Given the description of an element on the screen output the (x, y) to click on. 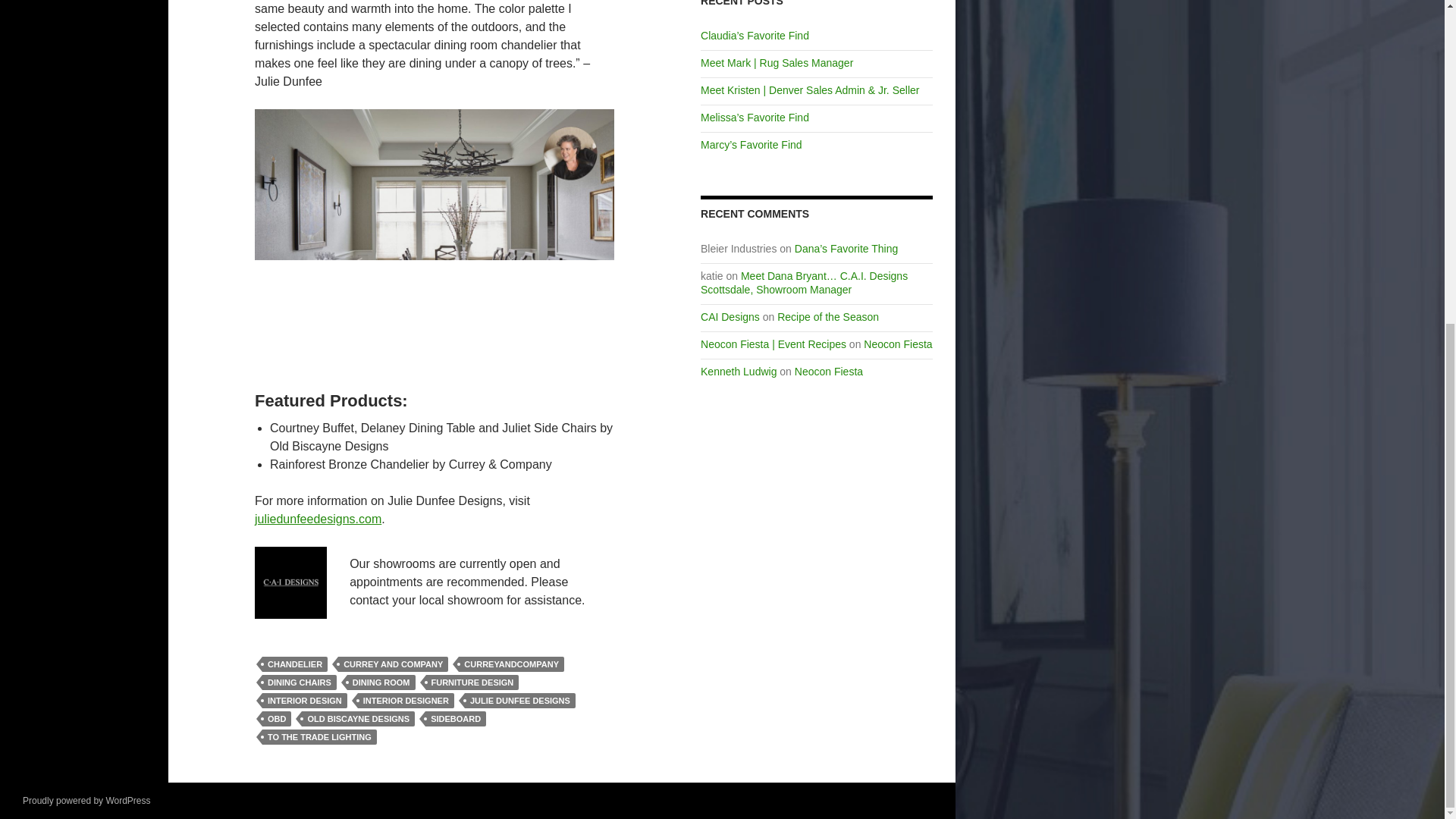
TO THE TRADE LIGHTING (319, 736)
JULIE DUNFEE DESIGNS (519, 700)
CURREYANDCOMPANY (511, 663)
DINING CHAIRS (299, 682)
CHANDELIER (294, 663)
CURREY AND COMPANY (392, 663)
DINING ROOM (380, 682)
juliedunfeedesigns.com (317, 518)
INTERIOR DESIGN (304, 700)
OBD (276, 718)
